Given the description of an element on the screen output the (x, y) to click on. 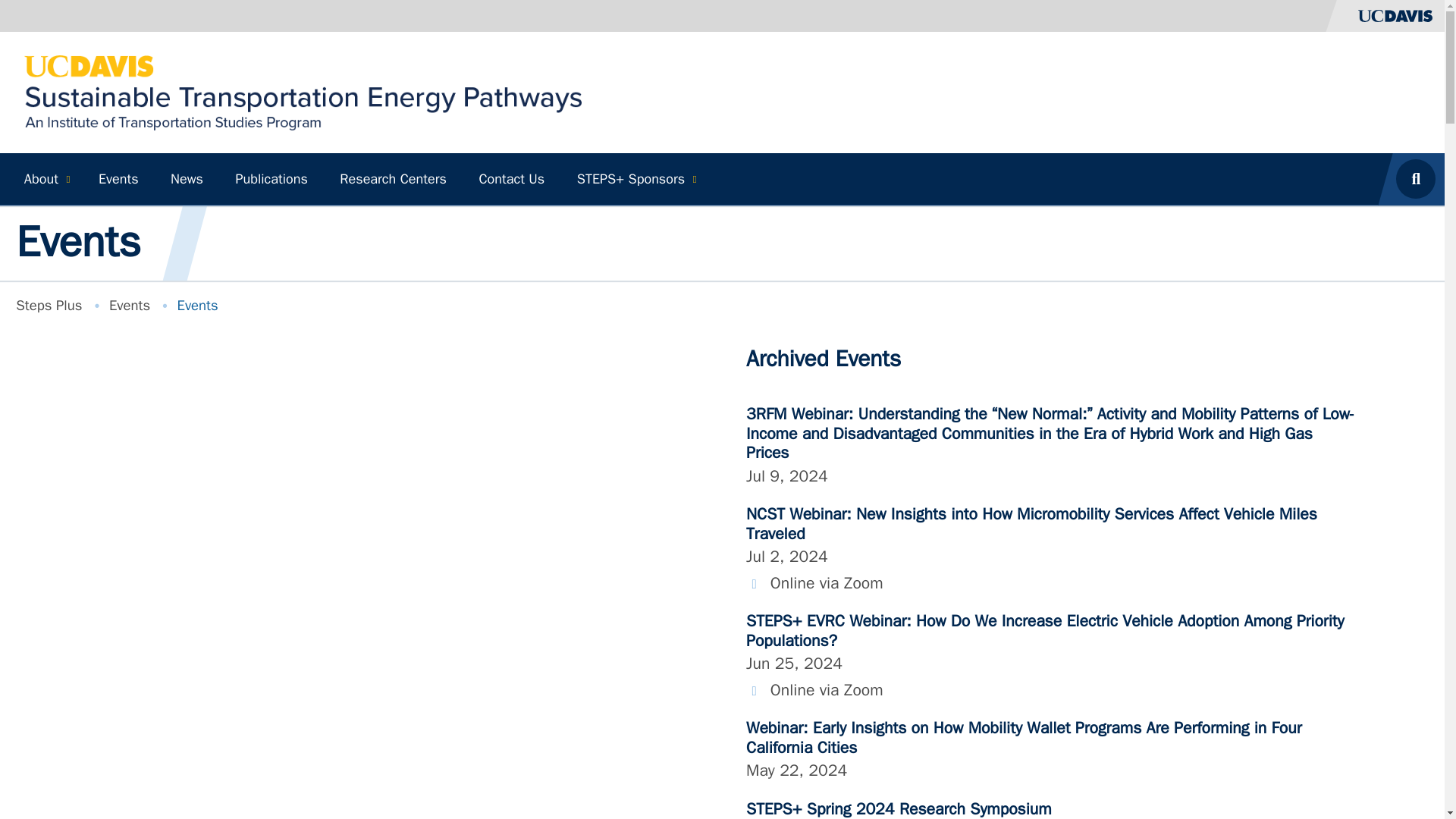
Event Details (1167, 487)
Research Centers (392, 179)
Events (129, 305)
Register Here (1072, 642)
Apply Filter (808, 598)
Publications (271, 179)
Open Search (1419, 179)
Contact Us (511, 179)
today (1050, 540)
About (45, 179)
Event Details (1219, 642)
News (186, 179)
Home (302, 91)
